Given the description of an element on the screen output the (x, y) to click on. 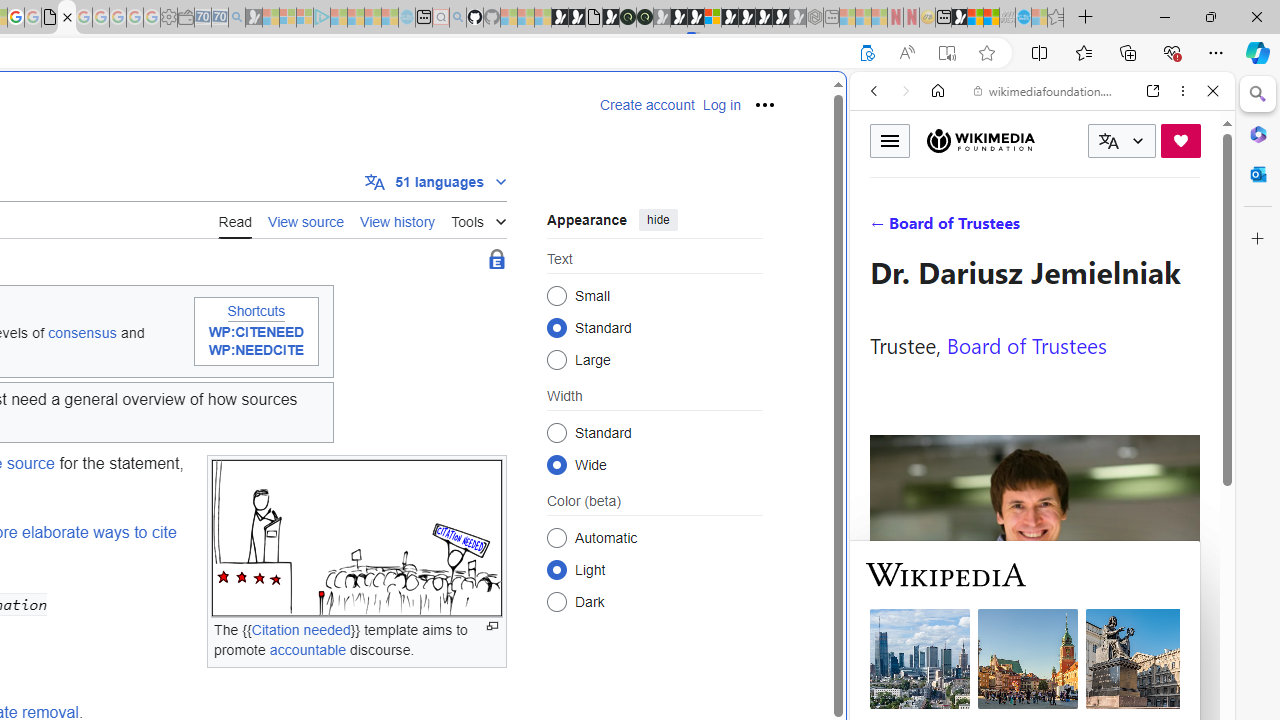
Large (556, 359)
Small (556, 295)
Extended-protected page (496, 259)
Board of Trustees (1026, 344)
